Given the description of an element on the screen output the (x, y) to click on. 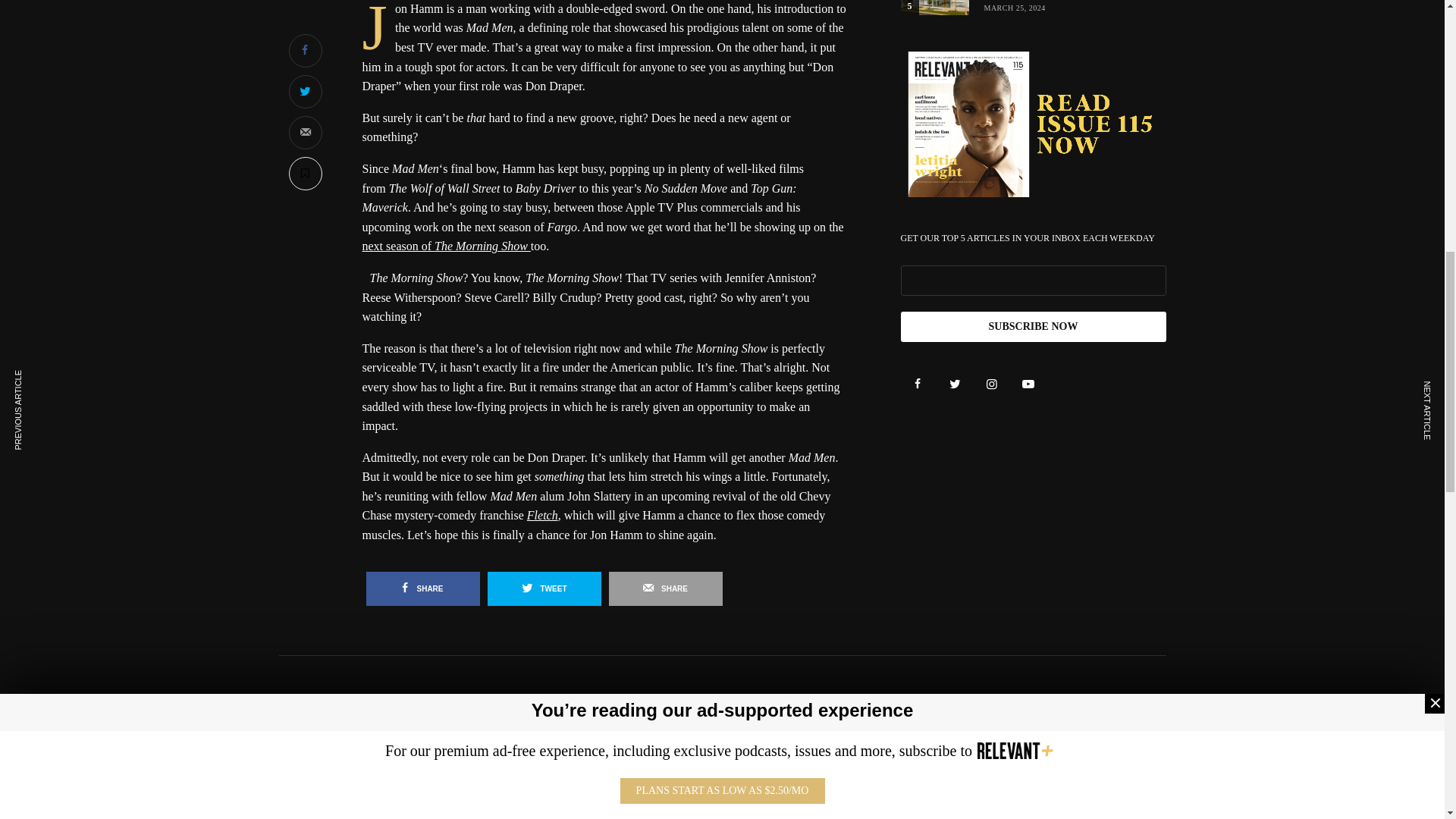
Subscribe Now (1033, 327)
